Given the description of an element on the screen output the (x, y) to click on. 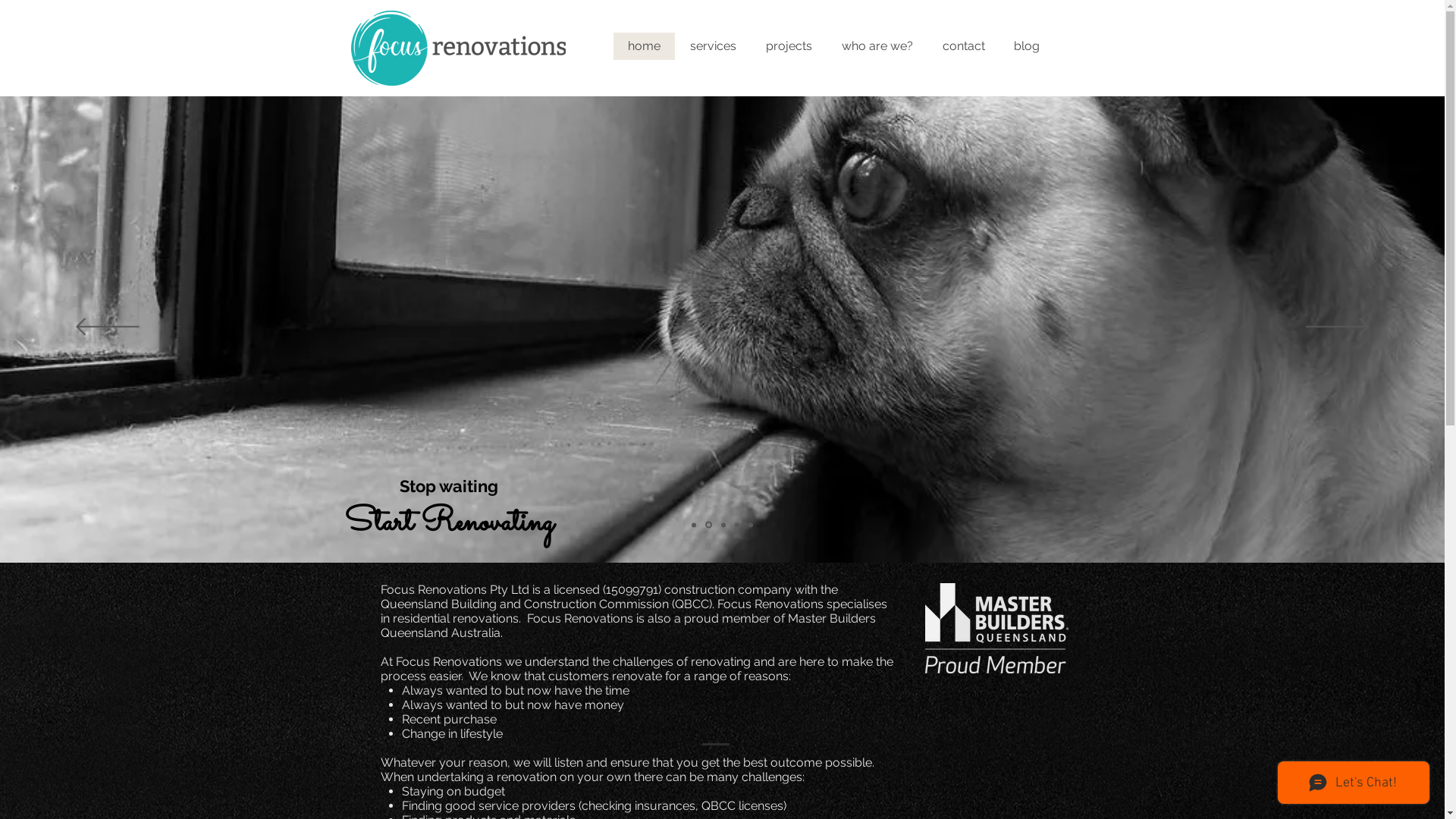
contact Element type: text (962, 45)
who are we? Element type: text (876, 45)
blog Element type: text (1026, 45)
home Element type: text (643, 45)
